Given the description of an element on the screen output the (x, y) to click on. 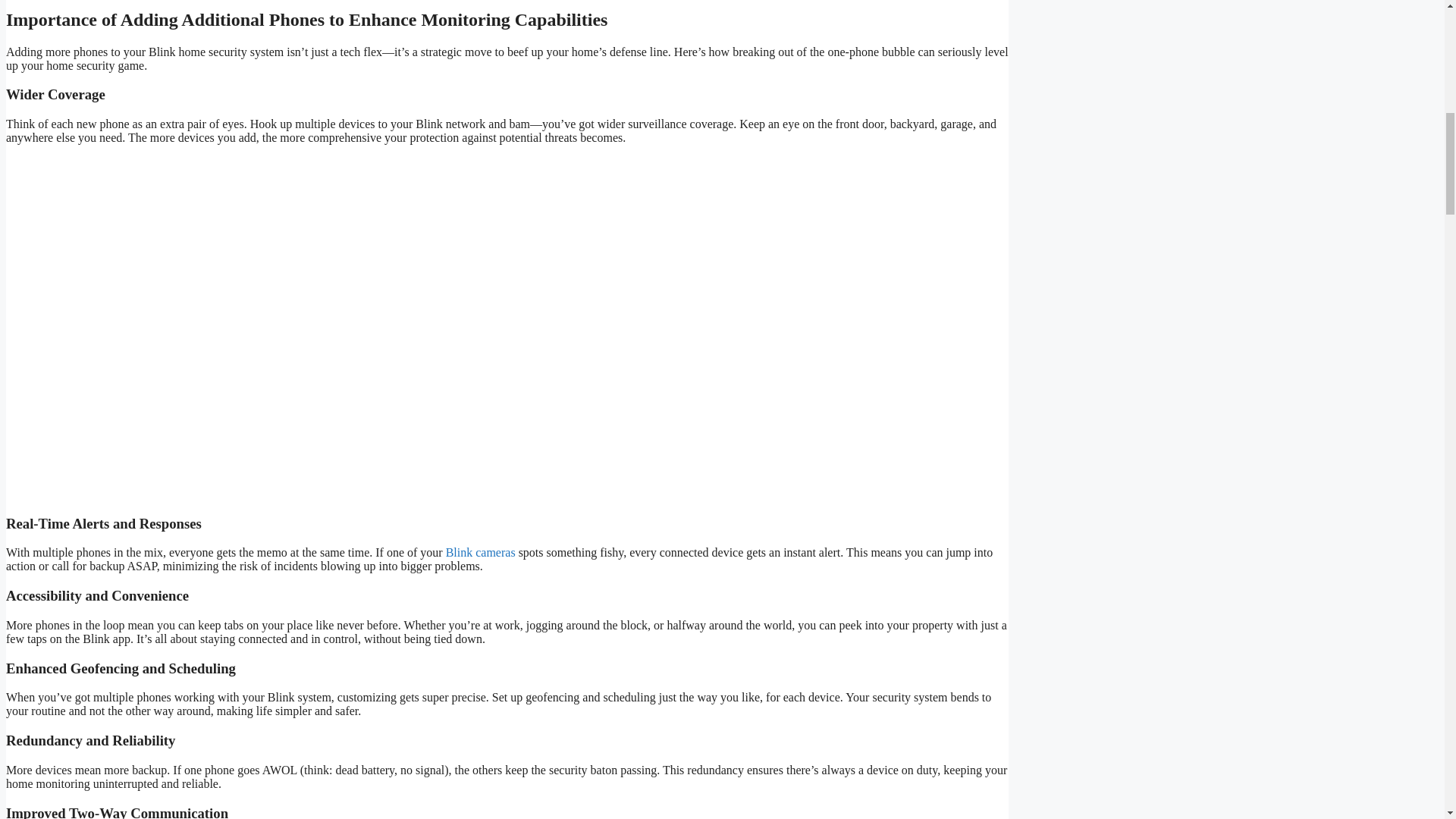
Blink cameras (478, 552)
